Given the description of an element on the screen output the (x, y) to click on. 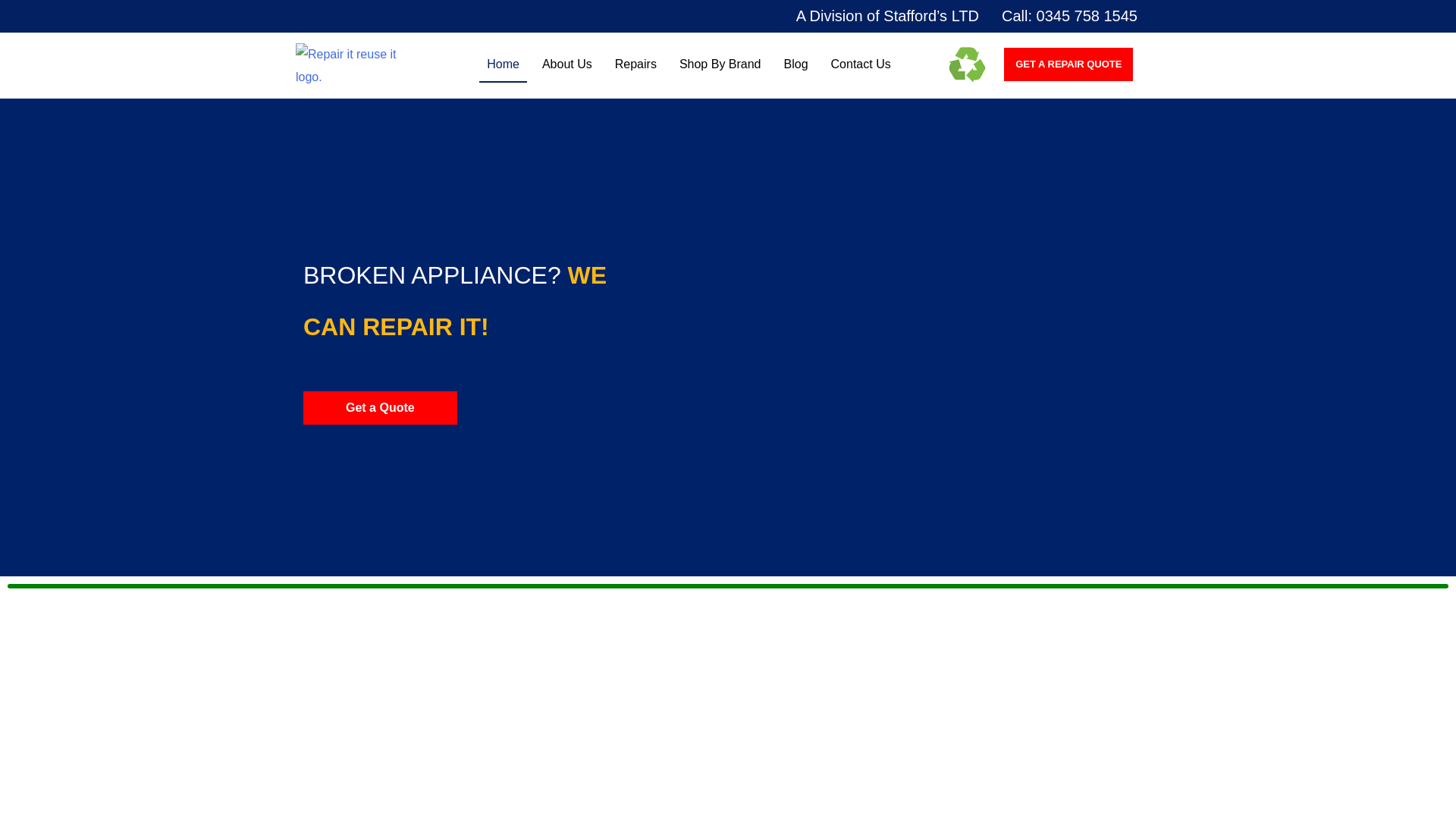
Repairs (635, 63)
About Us (566, 63)
Shop By Brand (719, 63)
Contact Us (861, 63)
Home (503, 63)
Blog (795, 63)
Call: 0345 758 1545 (1069, 15)
